Given the description of an element on the screen output the (x, y) to click on. 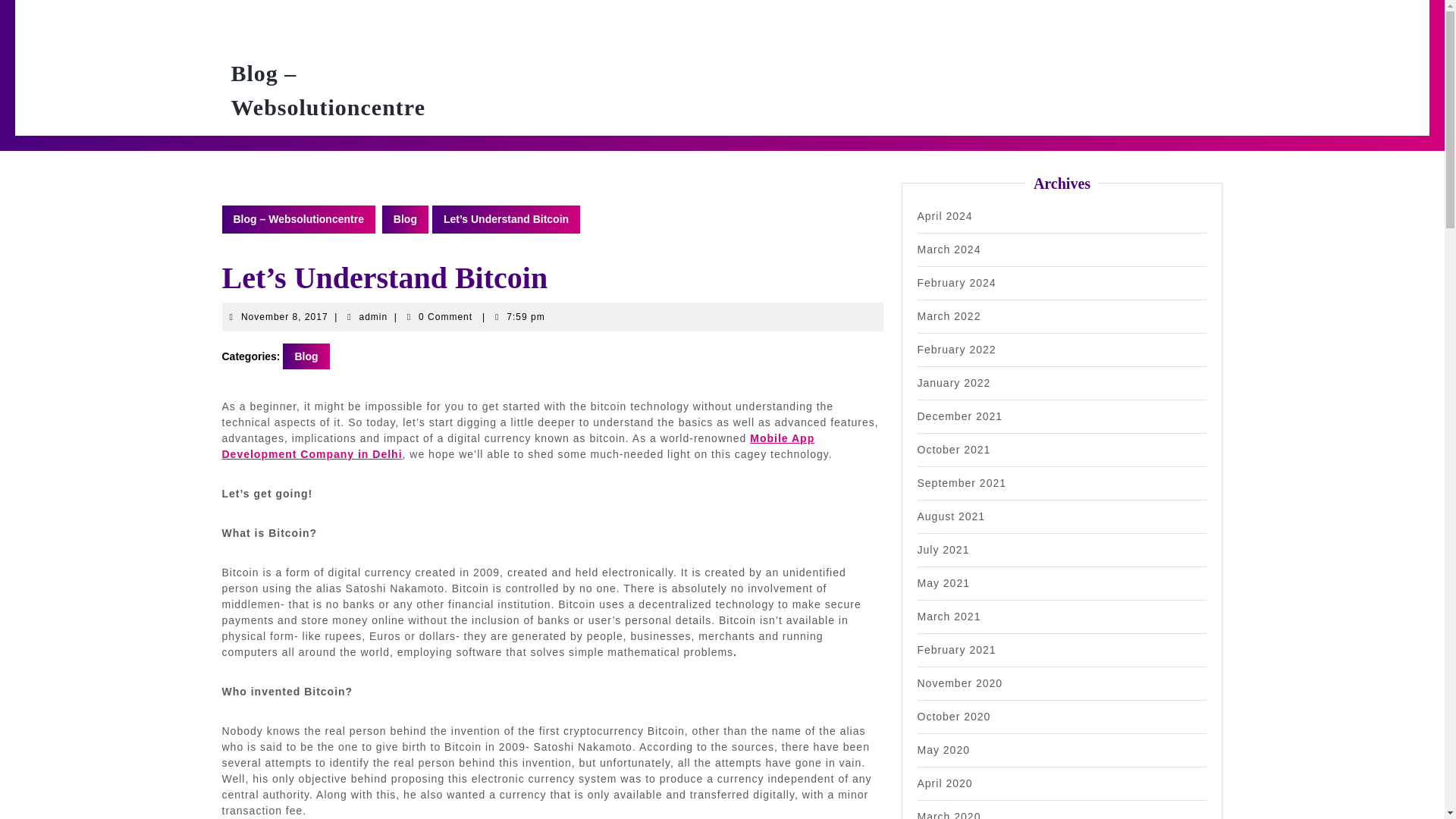
August 2021 (951, 516)
April 2024 (944, 215)
May 2021 (943, 582)
February 2024 (373, 317)
March 2021 (956, 282)
September 2021 (949, 616)
November 2020 (962, 482)
March 2022 (960, 683)
October 2020 (949, 316)
